Given the description of an element on the screen output the (x, y) to click on. 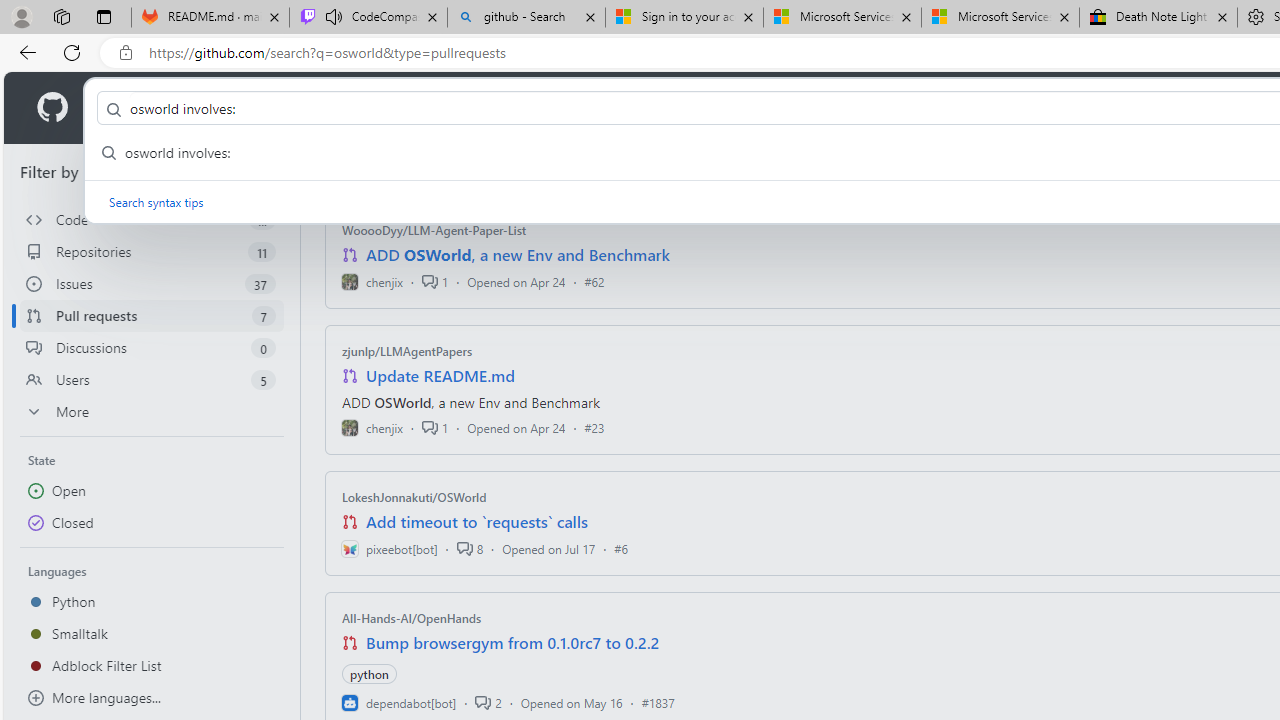
Product (130, 107)
